Given the description of an element on the screen output the (x, y) to click on. 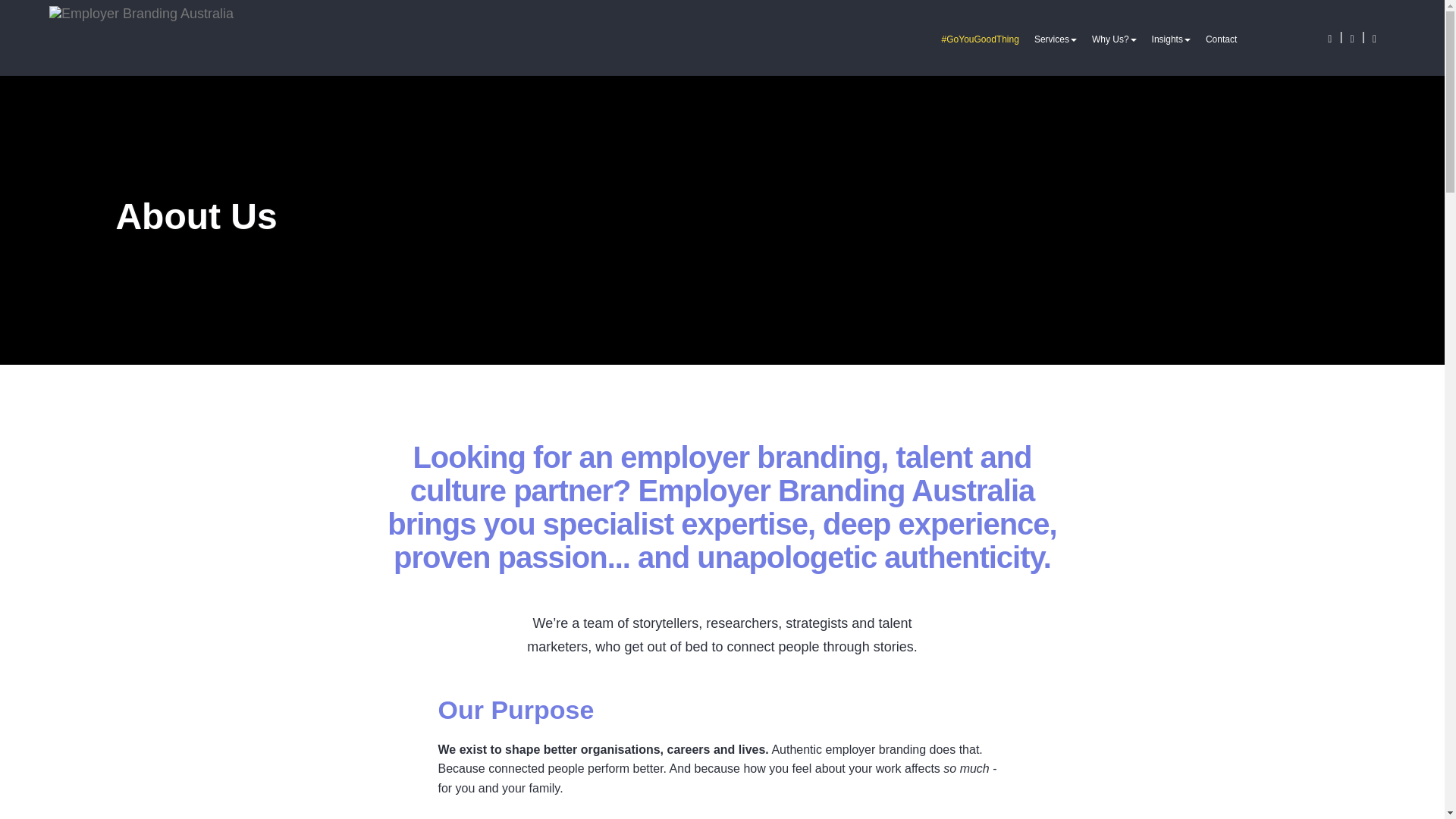
YouTube (1374, 38)
Insights (1171, 38)
Services (1055, 38)
Instagram (1351, 38)
Why Us? (1114, 38)
LinkedIn (1329, 38)
Contact (1221, 38)
